Given the description of an element on the screen output the (x, y) to click on. 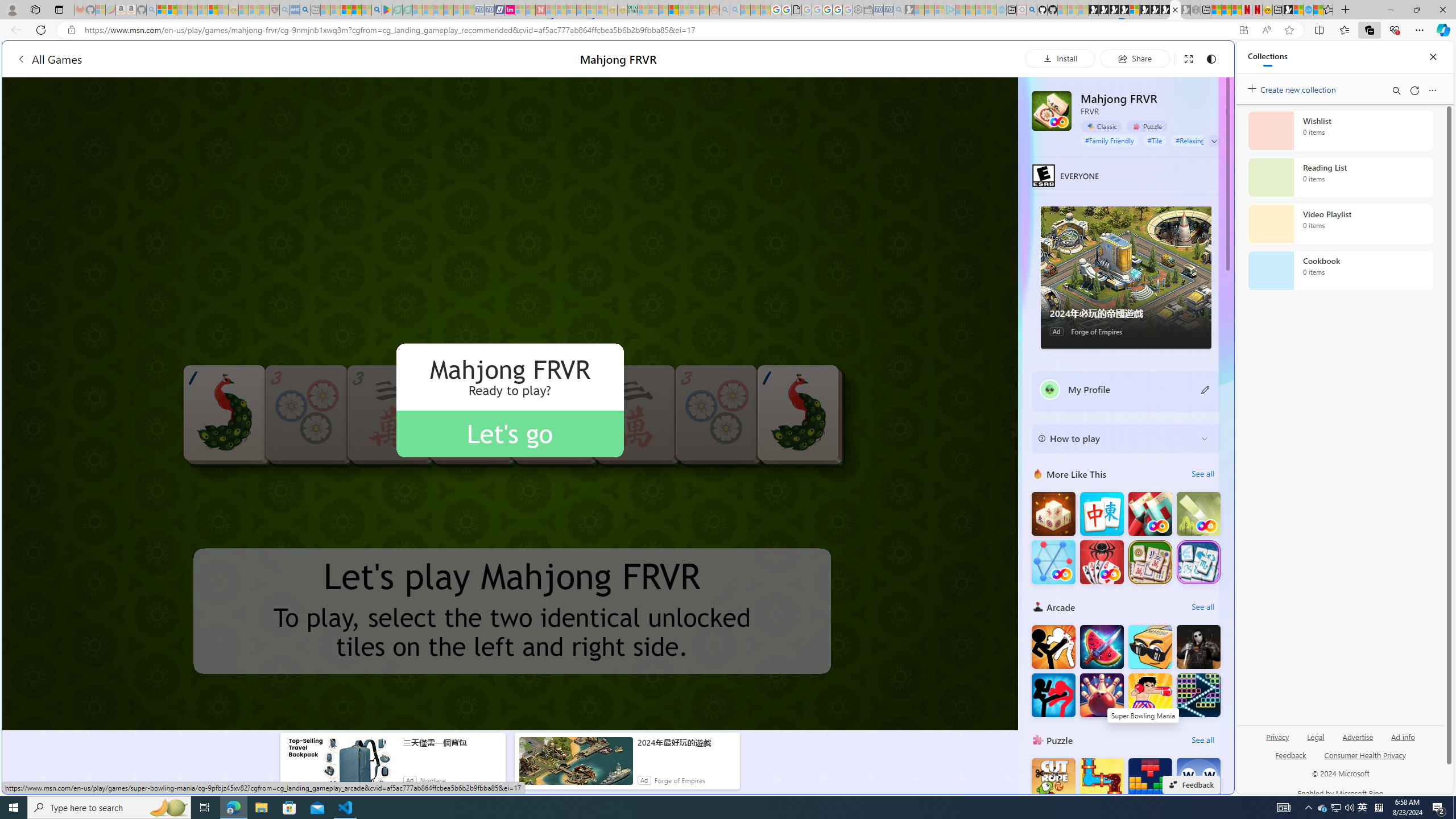
Cut the Rope (1053, 779)
Classic (1101, 126)
Classic (1101, 125)
Expert Portfolios (673, 9)
Stickman Fighter : Mega Brawl (1053, 646)
Kinda Frugal - MSN - Sleeping (684, 9)
Mahjong Big (1101, 513)
